Given the description of an element on the screen output the (x, y) to click on. 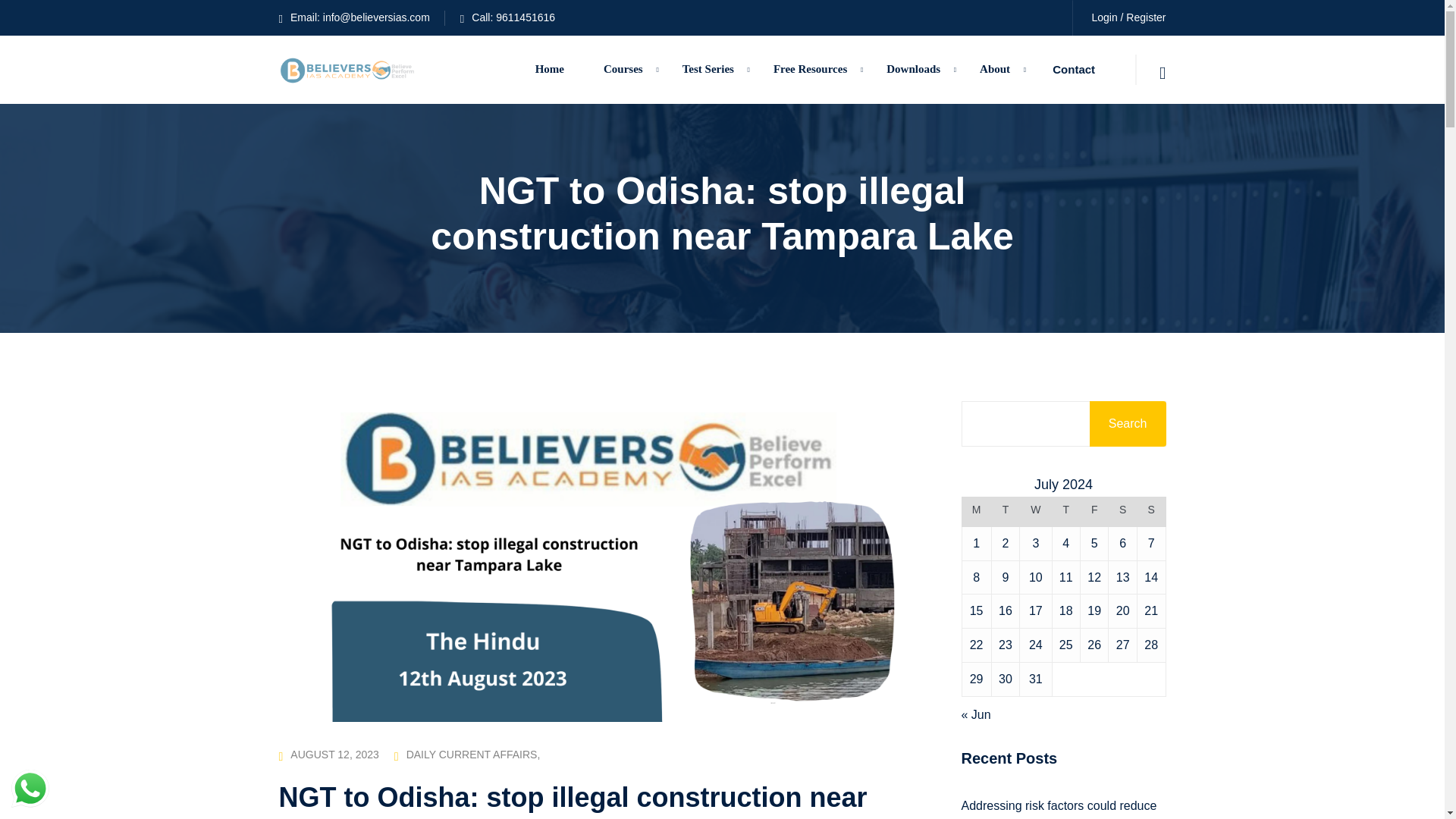
Call: 9611451616 (507, 17)
Home (549, 69)
Test Series (708, 69)
Tuesday (1005, 512)
Free Resources (810, 69)
Wednesday (1035, 512)
Thursday (1065, 512)
Monday (975, 512)
Downloads (912, 69)
Friday (1094, 512)
Courses (622, 69)
WhatsApp us (30, 788)
Sunday (1151, 512)
Saturday (1122, 512)
About (994, 69)
